Given the description of an element on the screen output the (x, y) to click on. 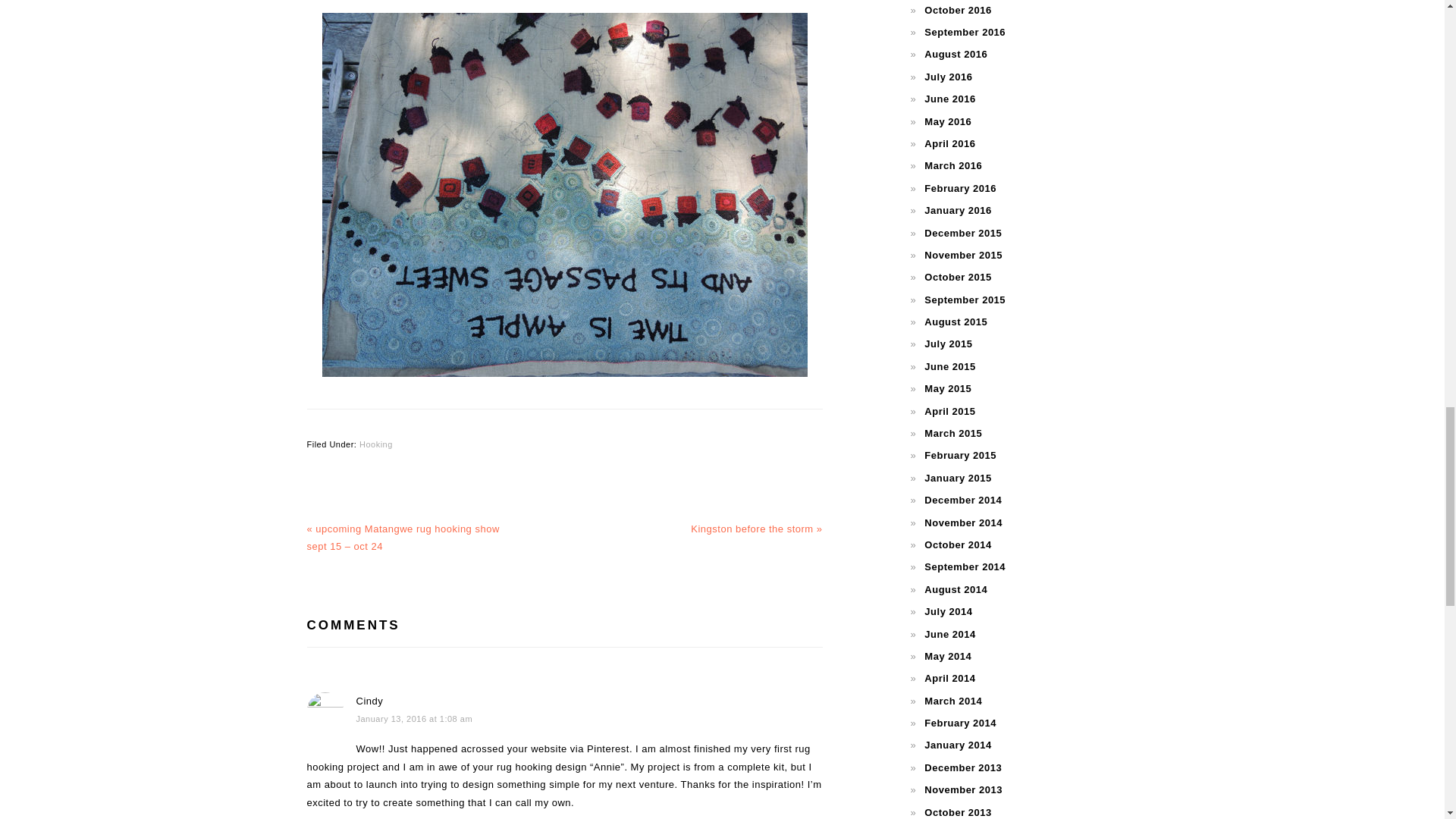
January 13, 2016 at 1:08 am (414, 718)
Hooking (376, 443)
